Given the description of an element on the screen output the (x, y) to click on. 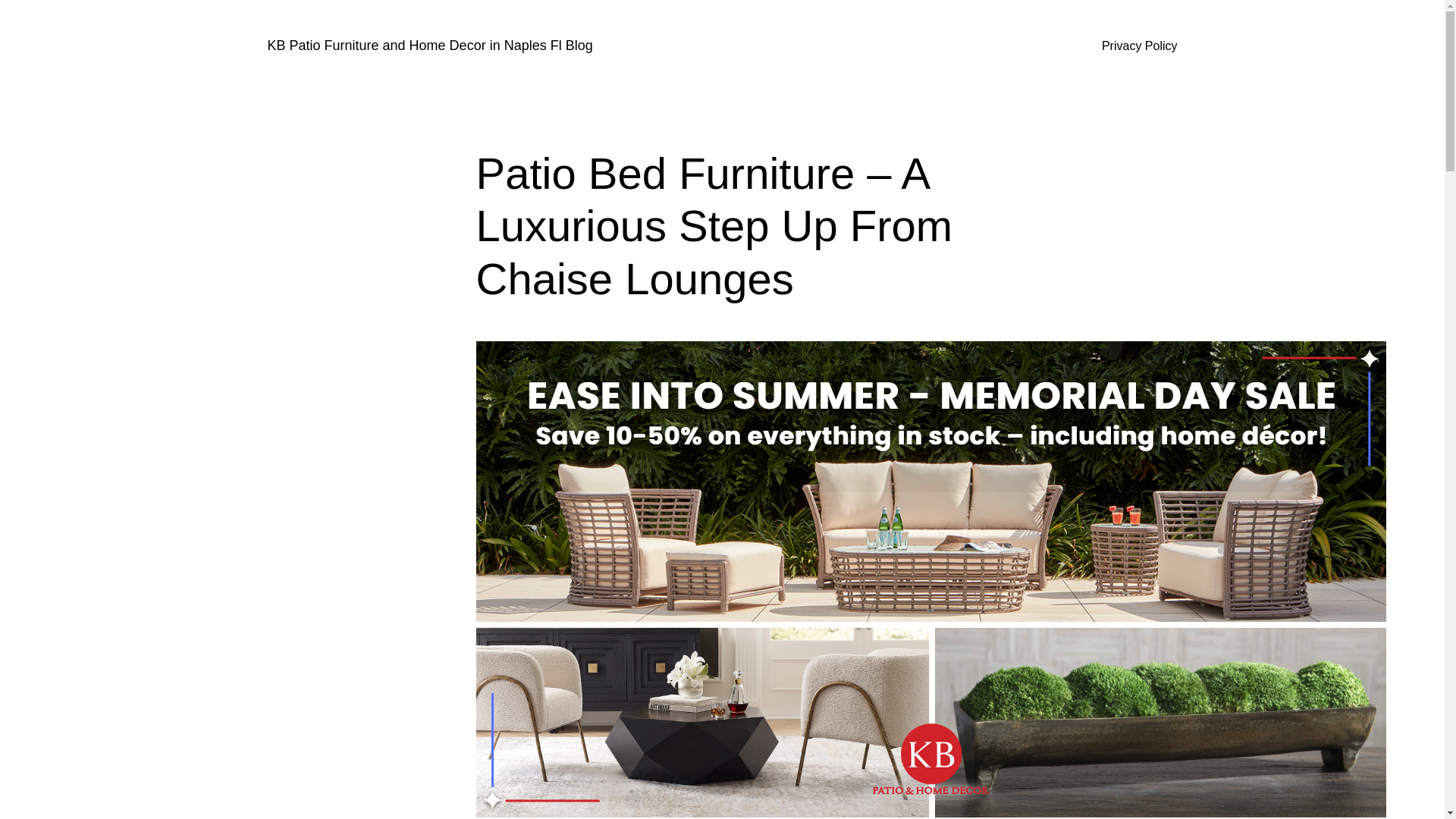
KB Patio Furniture and Home Decor in Naples Fl Blog (429, 45)
Privacy Policy (1139, 46)
